Given the description of an element on the screen output the (x, y) to click on. 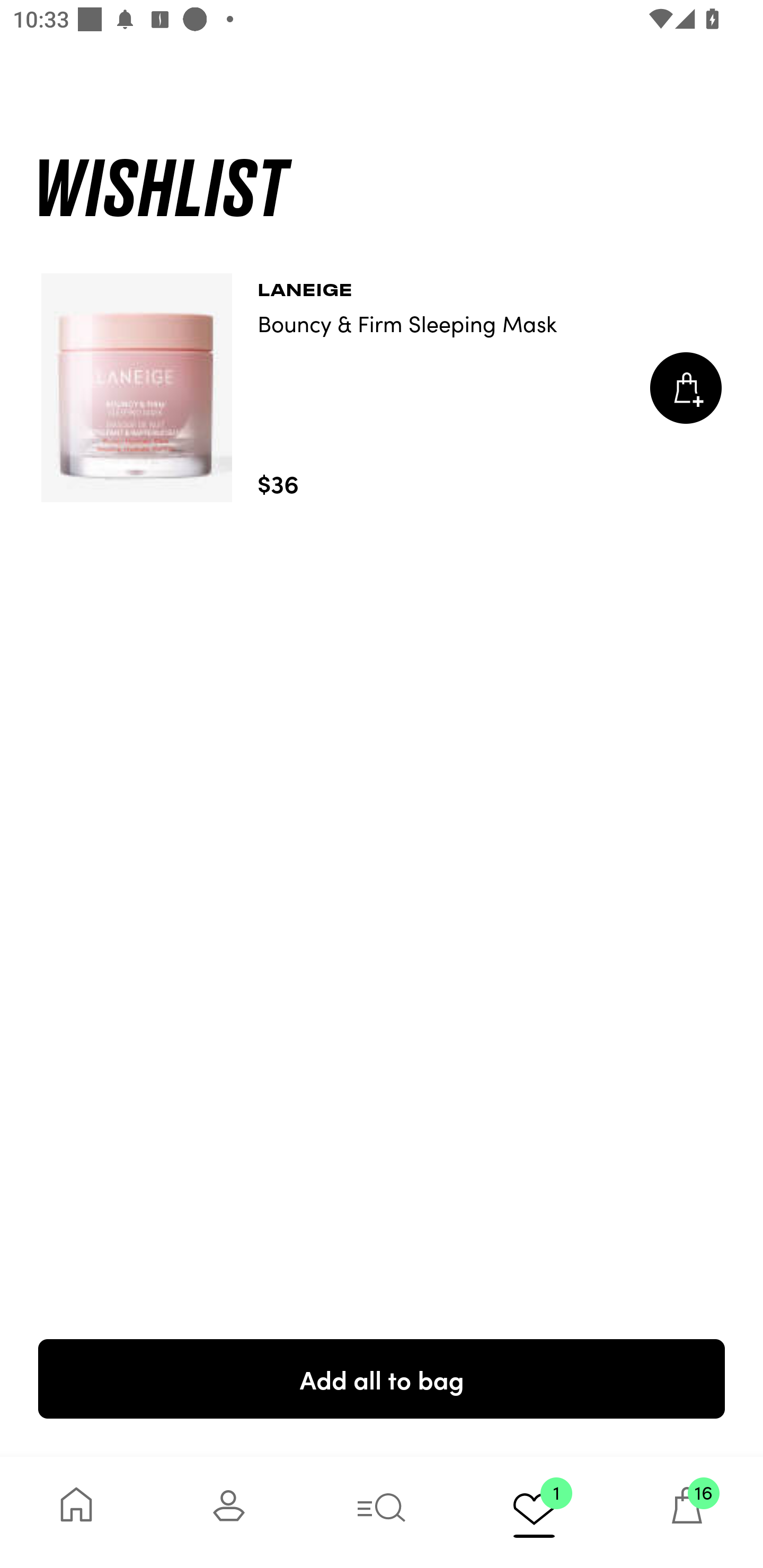
LANEIGE Bouncy & Firm Sleeping Mask $36 (381, 388)
Add all to bag (381, 1379)
1 (533, 1512)
16 (686, 1512)
